Given the description of an element on the screen output the (x, y) to click on. 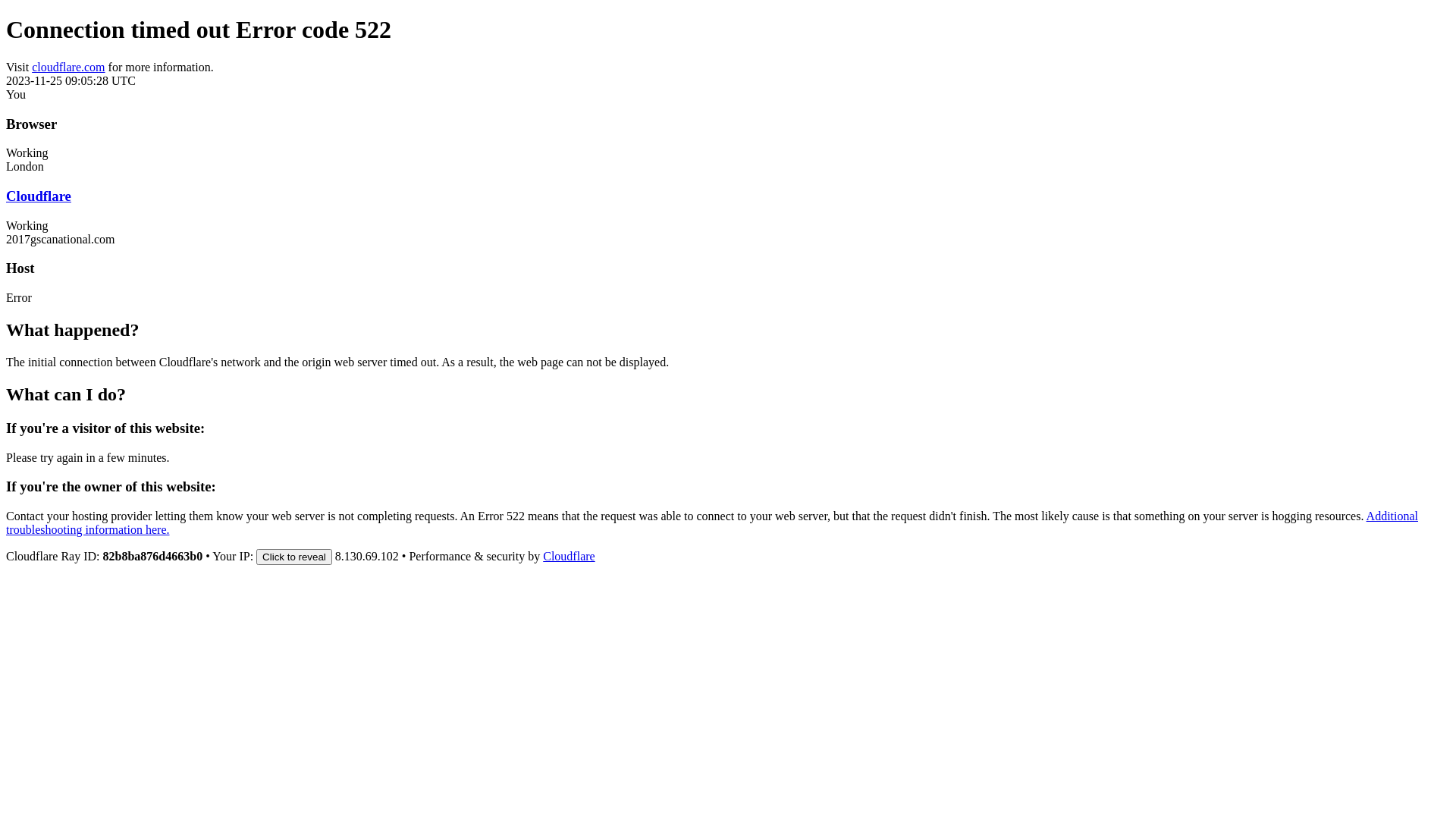
Additional troubleshooting information here. Element type: text (712, 522)
Cloudflare Element type: text (568, 555)
Click to reveal Element type: text (294, 556)
cloudflare.com Element type: text (67, 66)
Cloudflare Element type: text (38, 195)
